Given the description of an element on the screen output the (x, y) to click on. 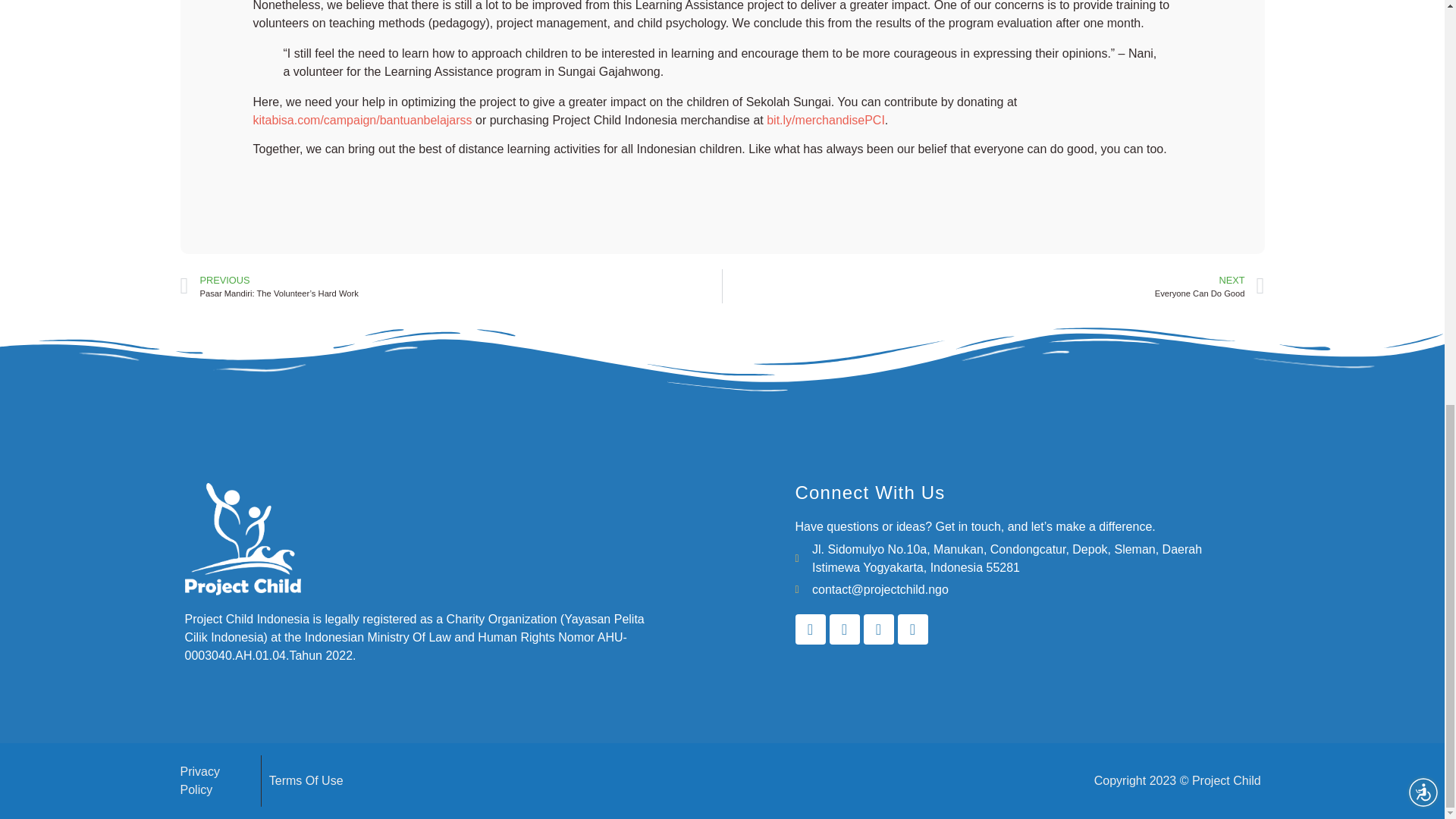
Accessibility Menu (1422, 4)
